Given the description of an element on the screen output the (x, y) to click on. 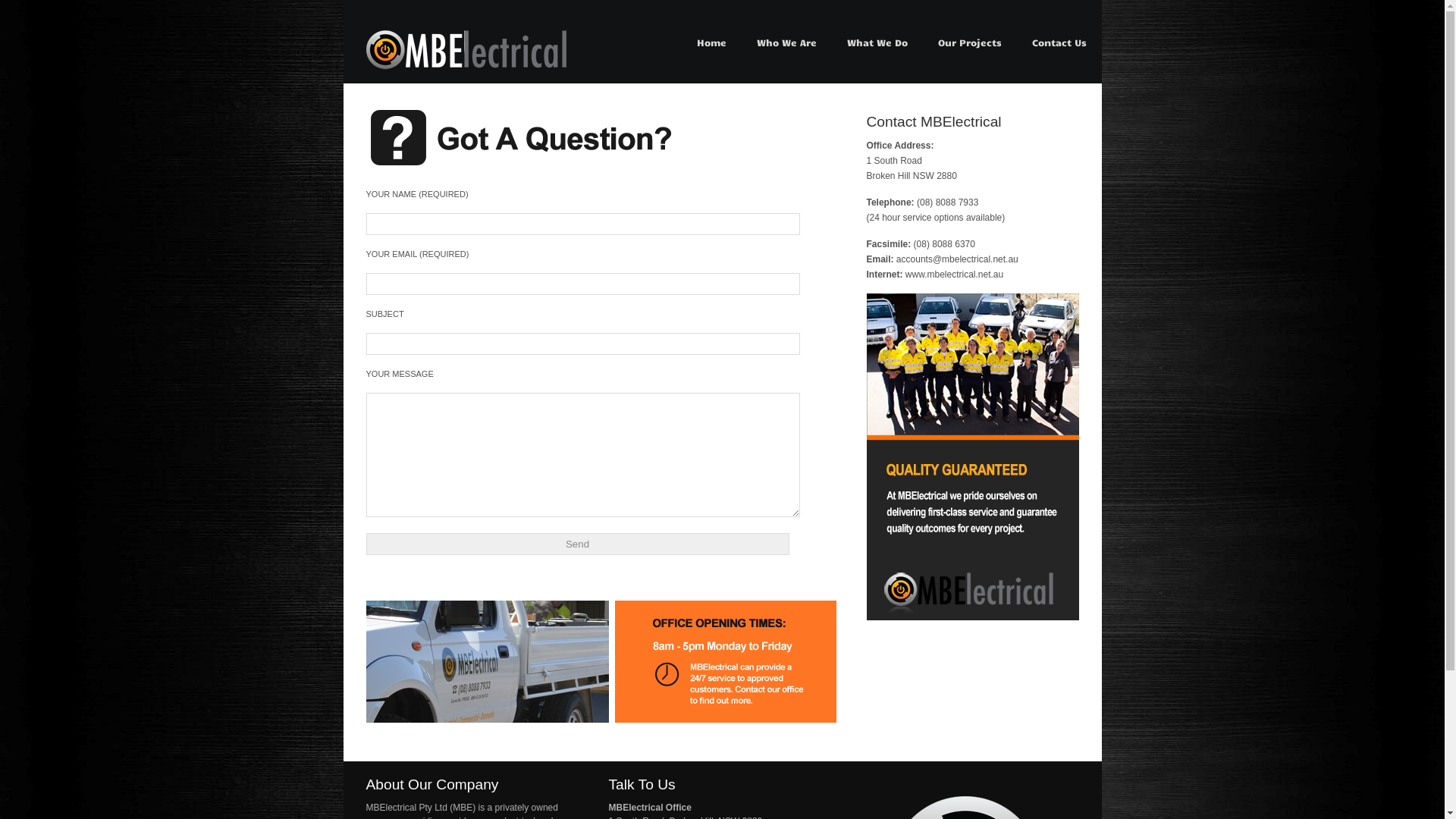
Home Element type: text (710, 42)
Broken Hill Element type: hover (465, 66)
Who We Are Element type: text (786, 42)
Contact Us Element type: text (1058, 42)
Send Element type: text (576, 544)
What We Do Element type: text (876, 42)
Our Projects Element type: text (969, 42)
